Given the description of an element on the screen output the (x, y) to click on. 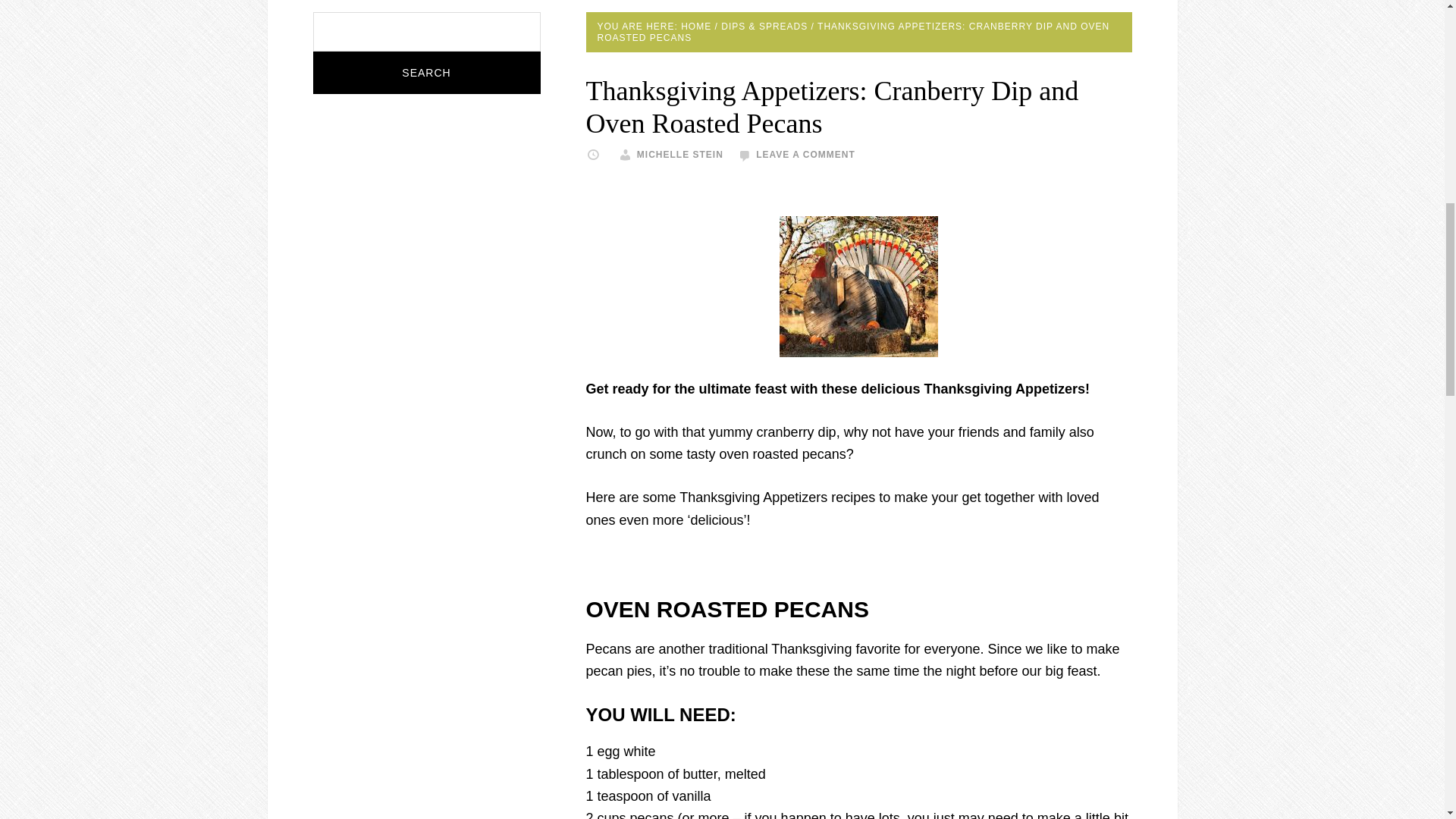
HOME (696, 26)
LEAVE A COMMENT (805, 154)
Advertisement (858, 194)
Search (426, 72)
MICHELLE STEIN (680, 154)
Search (426, 72)
